Given the description of an element on the screen output the (x, y) to click on. 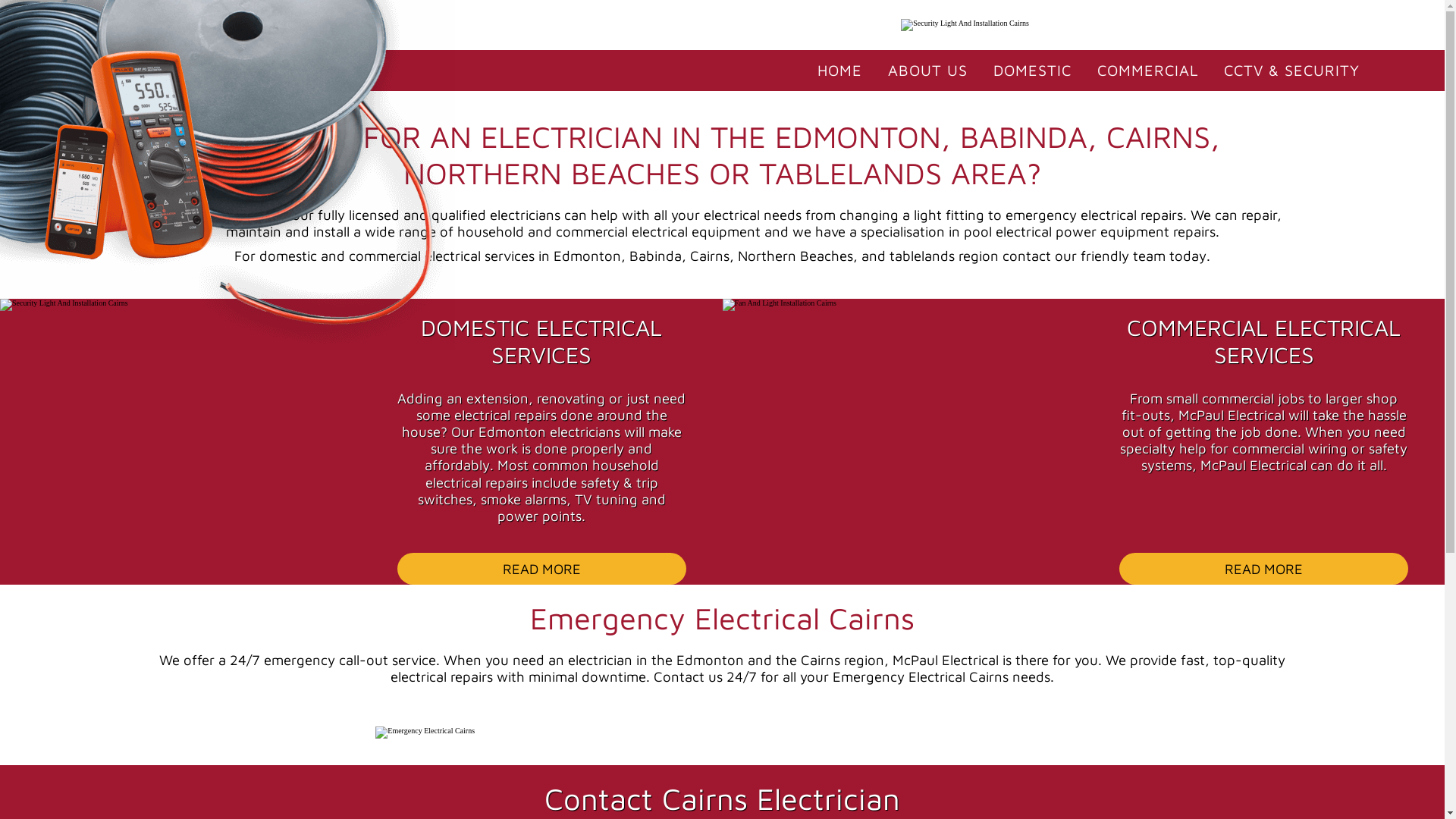
HOME Element type: text (839, 70)
READ MORE Element type: text (1263, 568)
DOMESTIC Element type: text (1032, 70)
COMMERCIAL Element type: text (1147, 70)
ABOUT US Element type: text (927, 70)
READ MORE Element type: text (541, 568)
CCTV & SECURITY Element type: text (1291, 70)
